Given the description of an element on the screen output the (x, y) to click on. 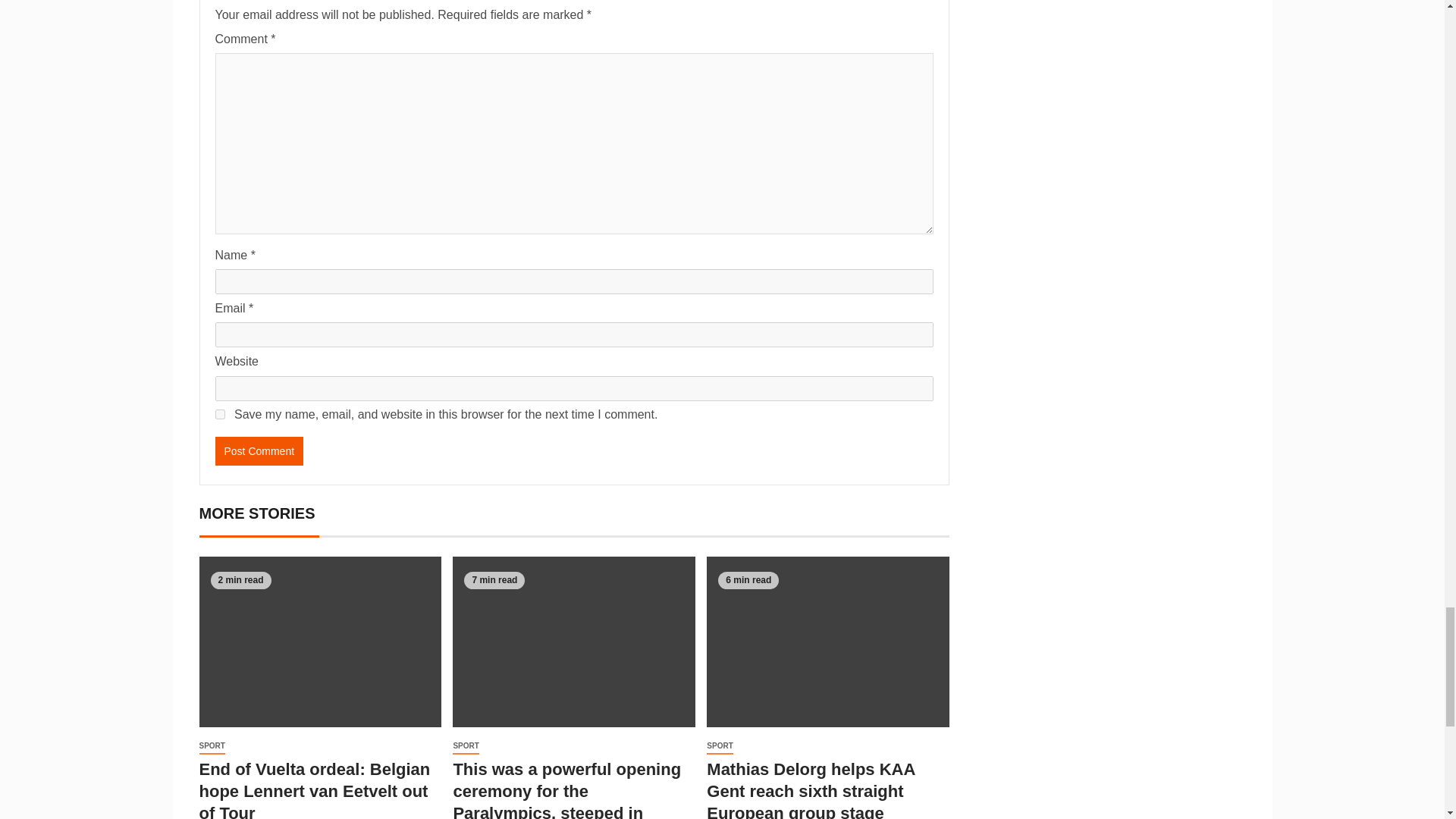
Post Comment (259, 451)
SPORT (465, 746)
SPORT (719, 746)
Post Comment (259, 451)
yes (220, 414)
SPORT (211, 746)
